Given the description of an element on the screen output the (x, y) to click on. 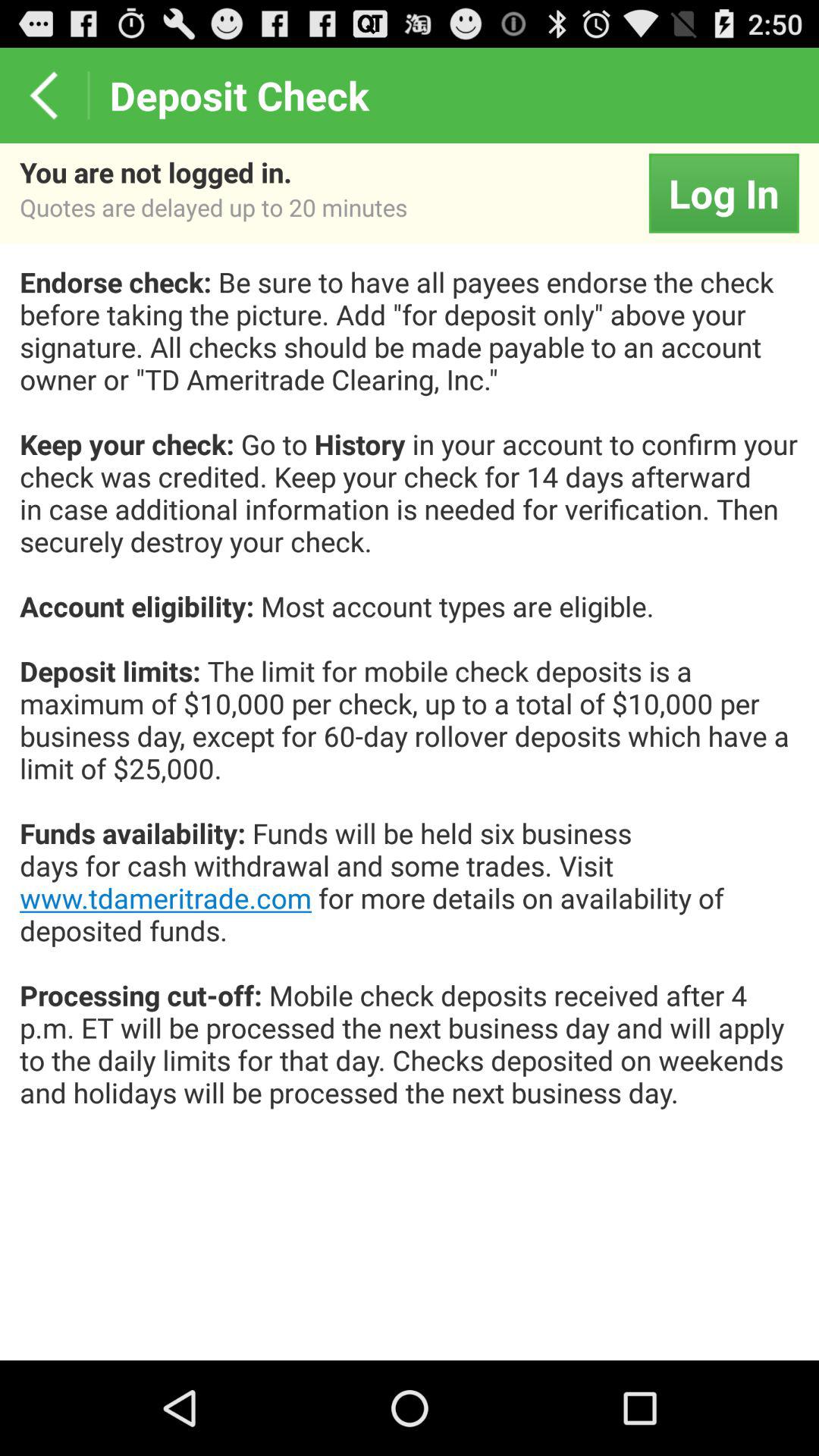
open the log in at the top right corner (723, 193)
